Given the description of an element on the screen output the (x, y) to click on. 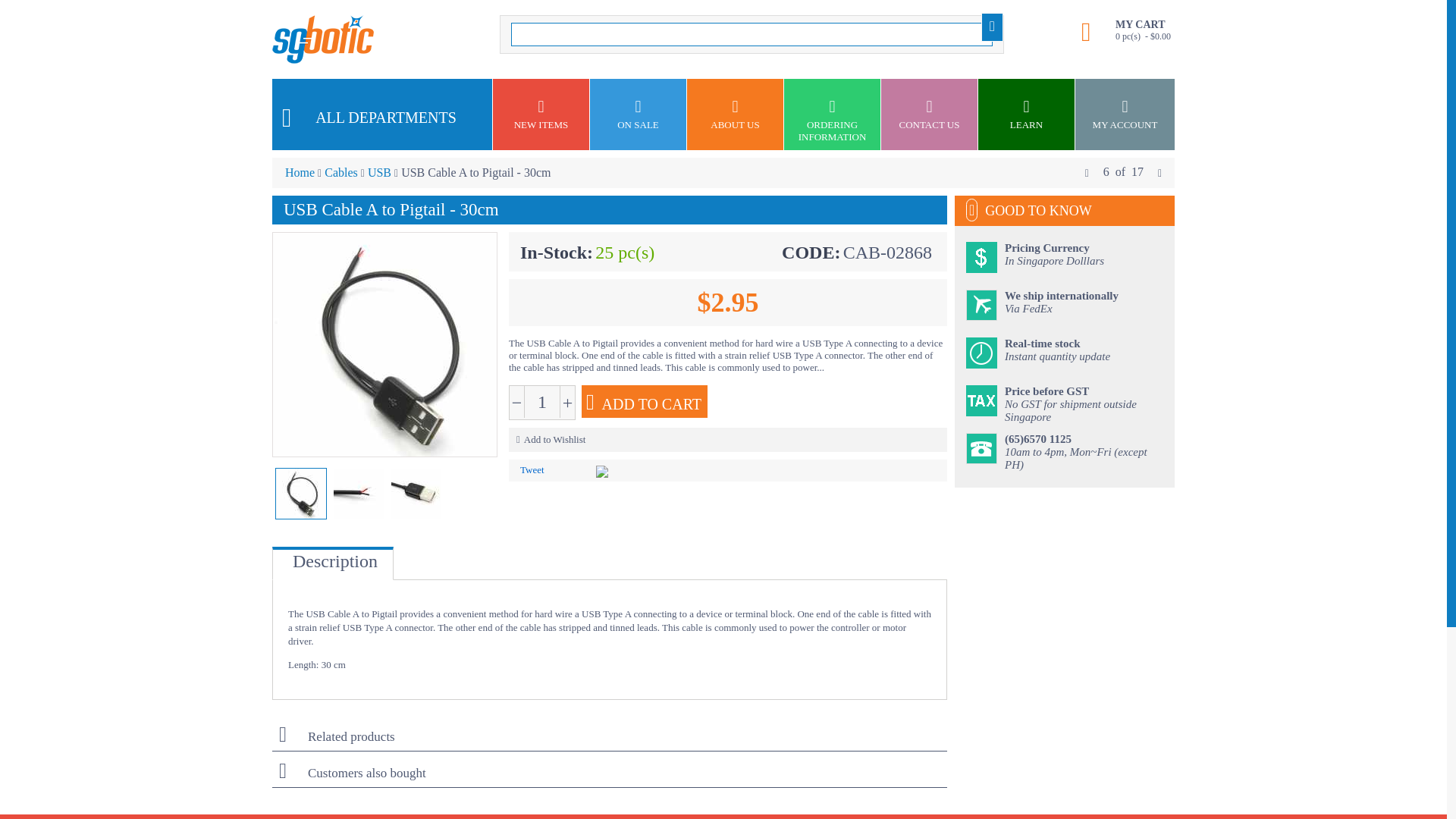
Customers also bought (609, 758)
1 (609, 777)
Related products (542, 401)
Customers also bought (609, 736)
ALL DEPARTMENTS (609, 773)
Search products (382, 113)
Related products (751, 33)
